Given the description of an element on the screen output the (x, y) to click on. 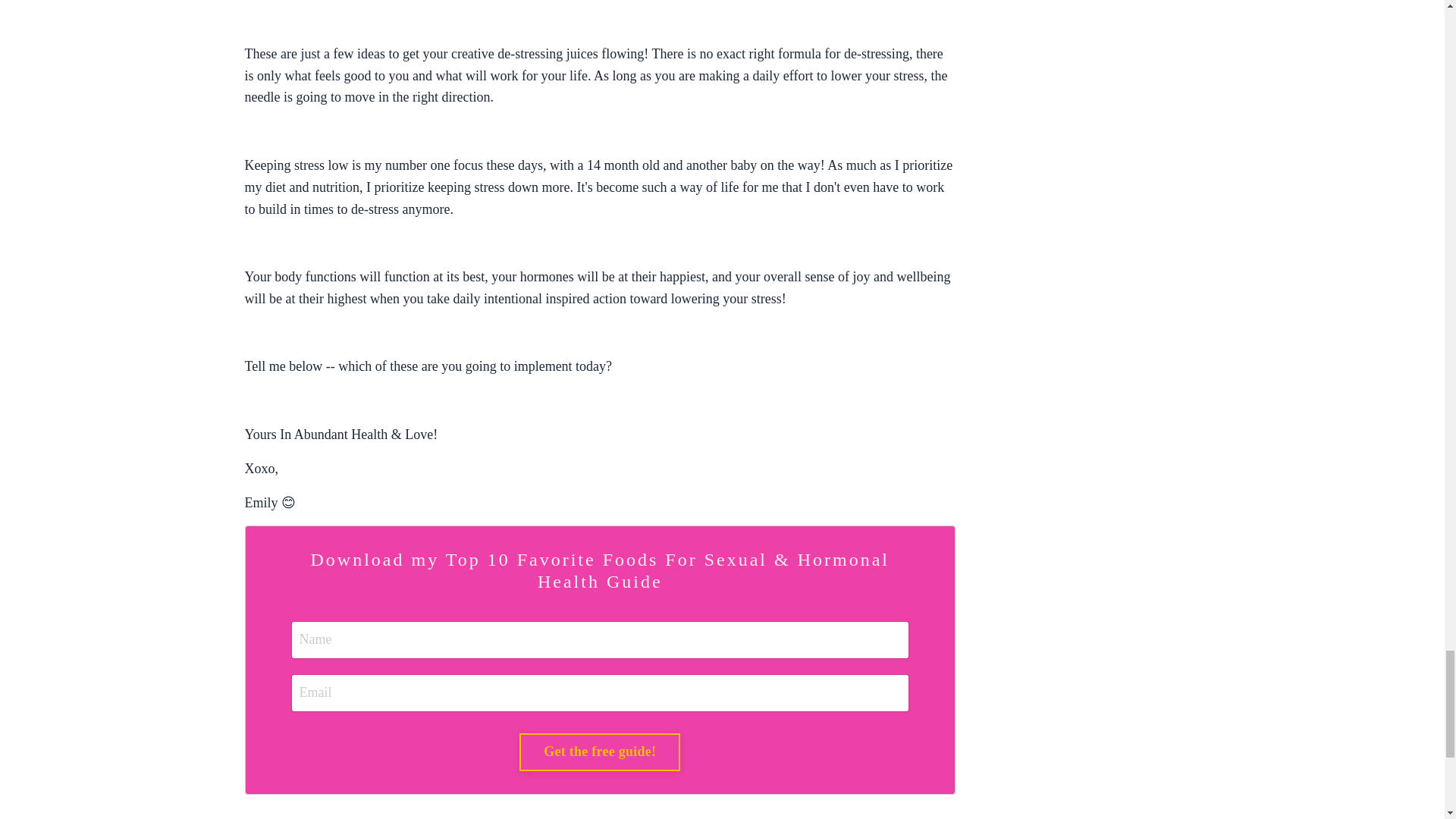
Get the free guide! (599, 752)
Get the free guide! (599, 752)
